Given the description of an element on the screen output the (x, y) to click on. 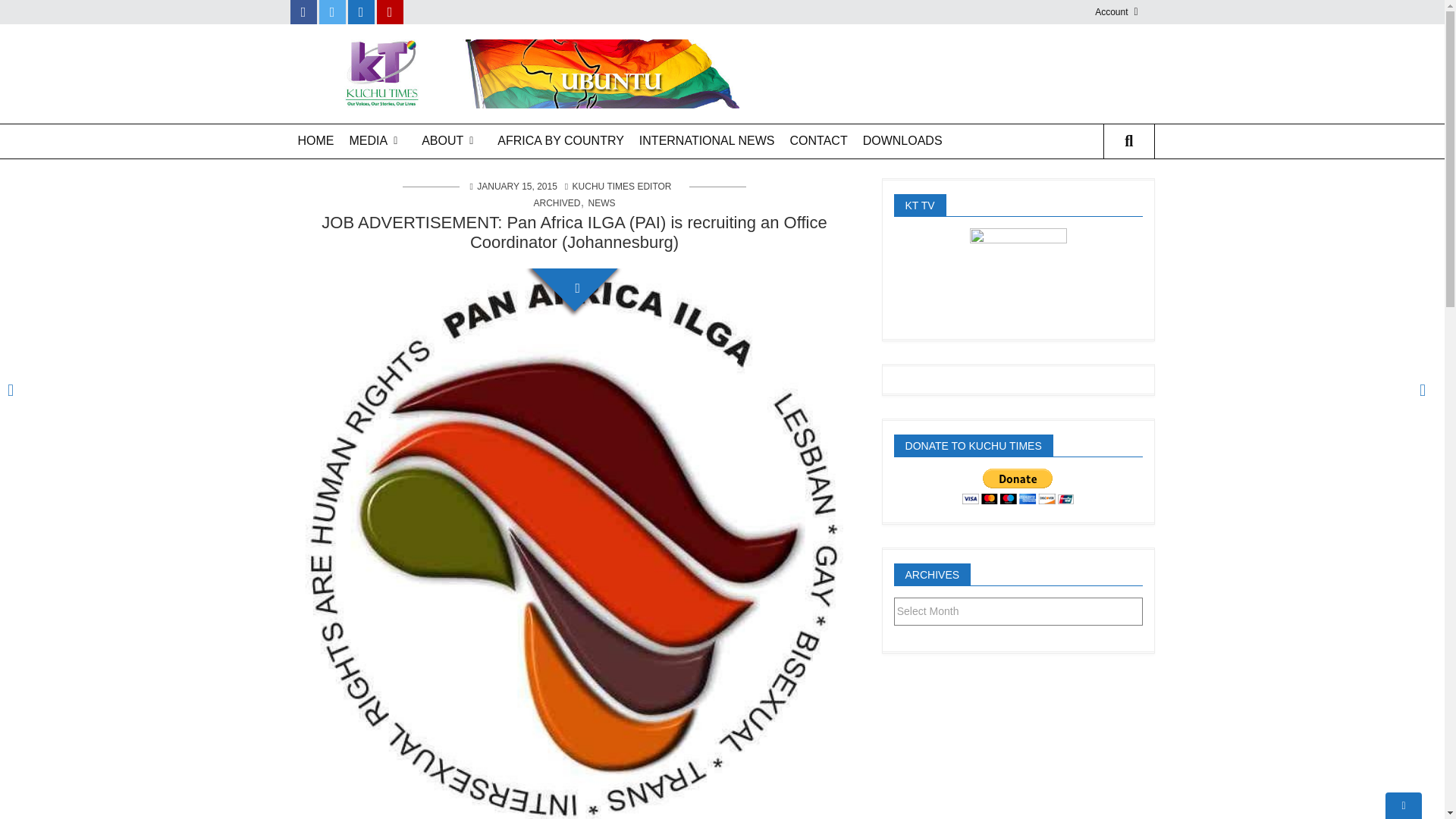
Diaspora Info (470, 203)
INTERNATIONAL NEWS (707, 141)
International News (707, 141)
Login (1151, 44)
Events (470, 229)
MEDIA (376, 141)
Staff Webmail (1151, 70)
Instagram (360, 12)
Facebook (302, 12)
CONTACT (819, 141)
